Given the description of an element on the screen output the (x, y) to click on. 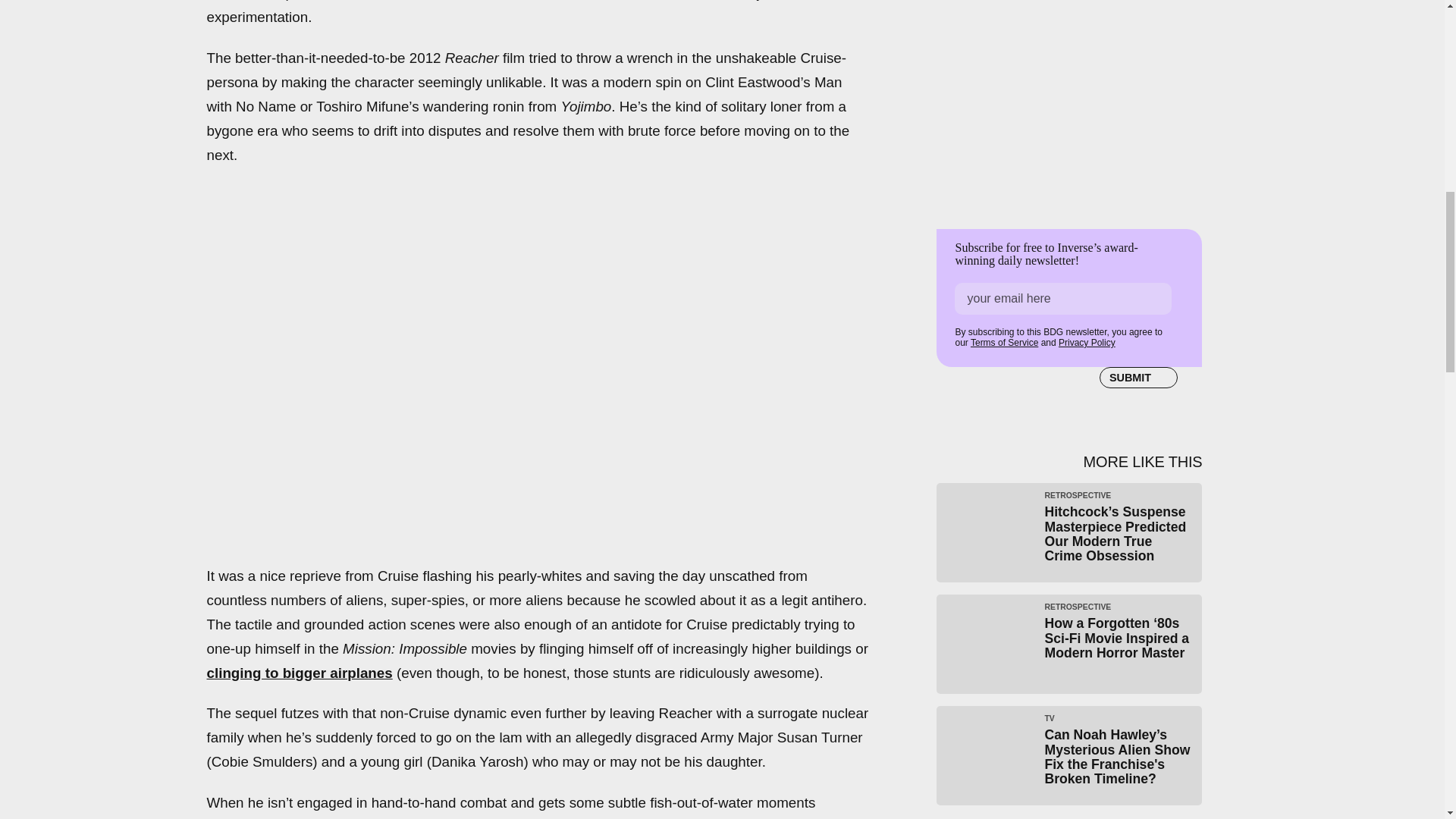
clinging to bigger airplanes (298, 672)
Terms of Service (1004, 342)
SUBMIT (1138, 377)
Privacy Policy (1086, 342)
